Given the description of an element on the screen output the (x, y) to click on. 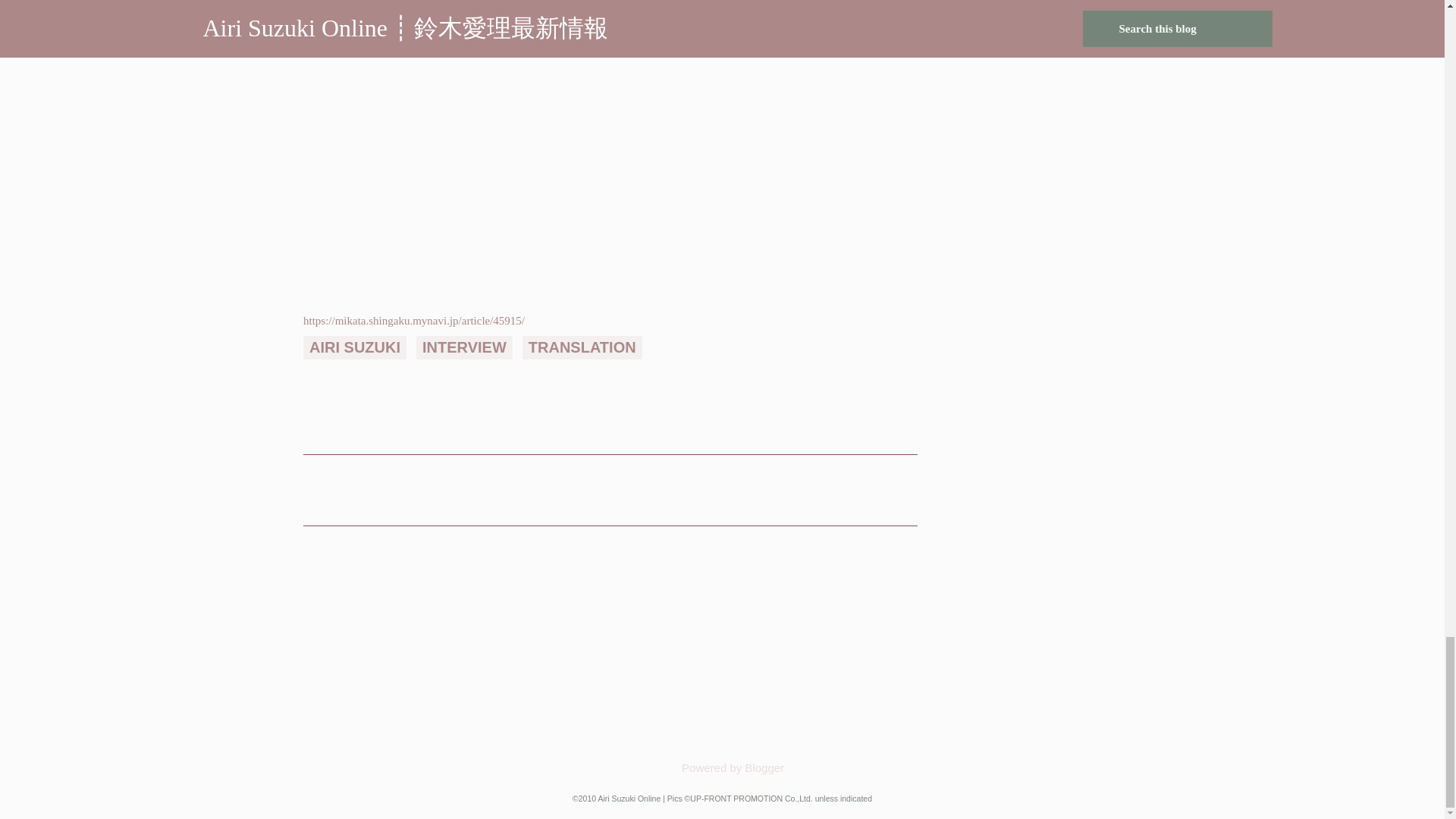
YouTube video player (494, 669)
AIRI SUZUKI (354, 347)
TRANSLATION (582, 347)
INTERVIEW (464, 347)
YouTube video player (266, 669)
